Given the description of an element on the screen output the (x, y) to click on. 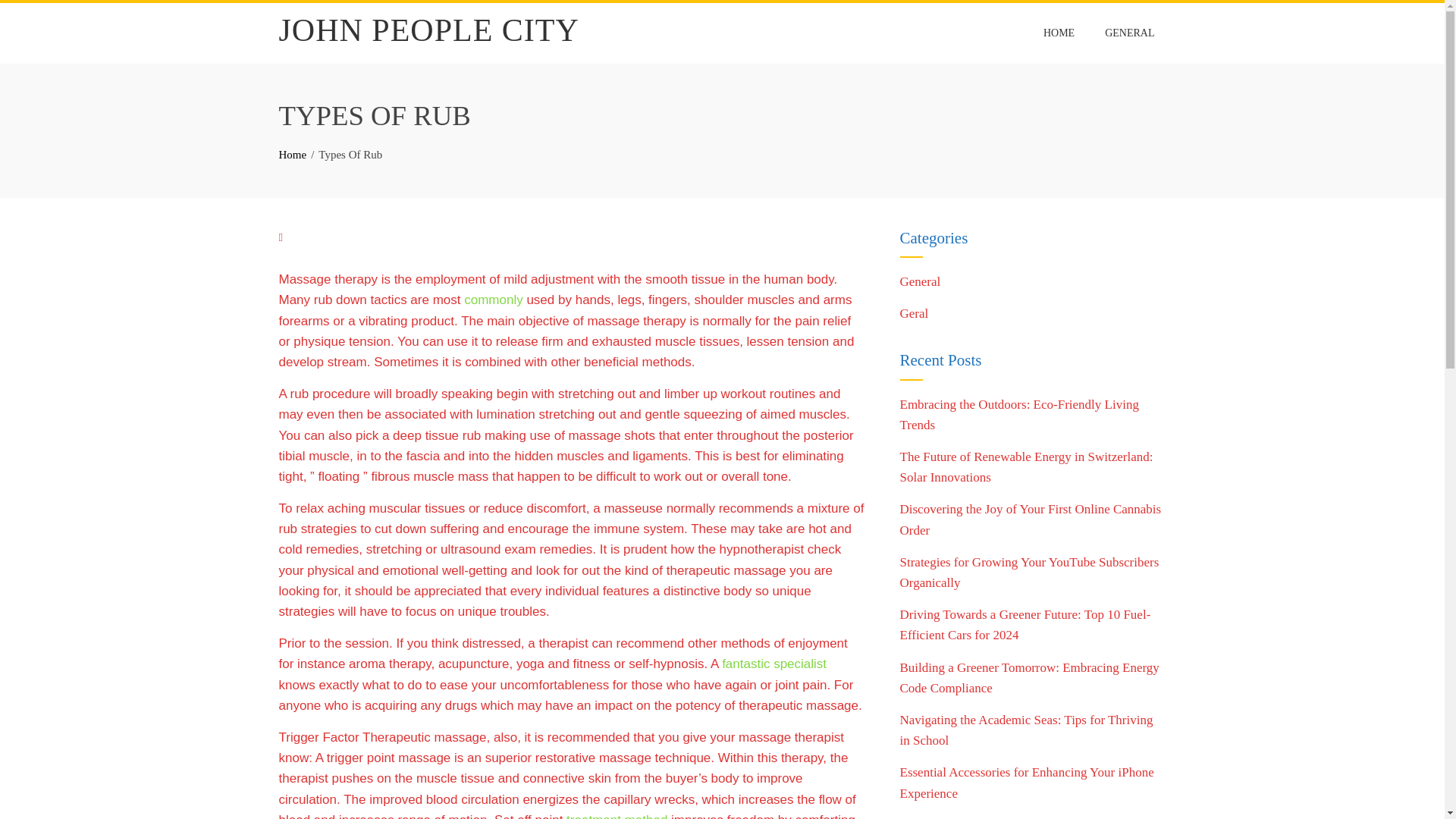
Strategies for Growing Your YouTube Subscribers Organically (1028, 572)
General (919, 281)
HOME (1059, 32)
GENERAL (1129, 32)
Geral (913, 313)
treatment method (616, 816)
Embracing the Outdoors: Eco-Friendly Living Trends (1018, 414)
JOHN PEOPLE CITY (429, 30)
